Given the description of an element on the screen output the (x, y) to click on. 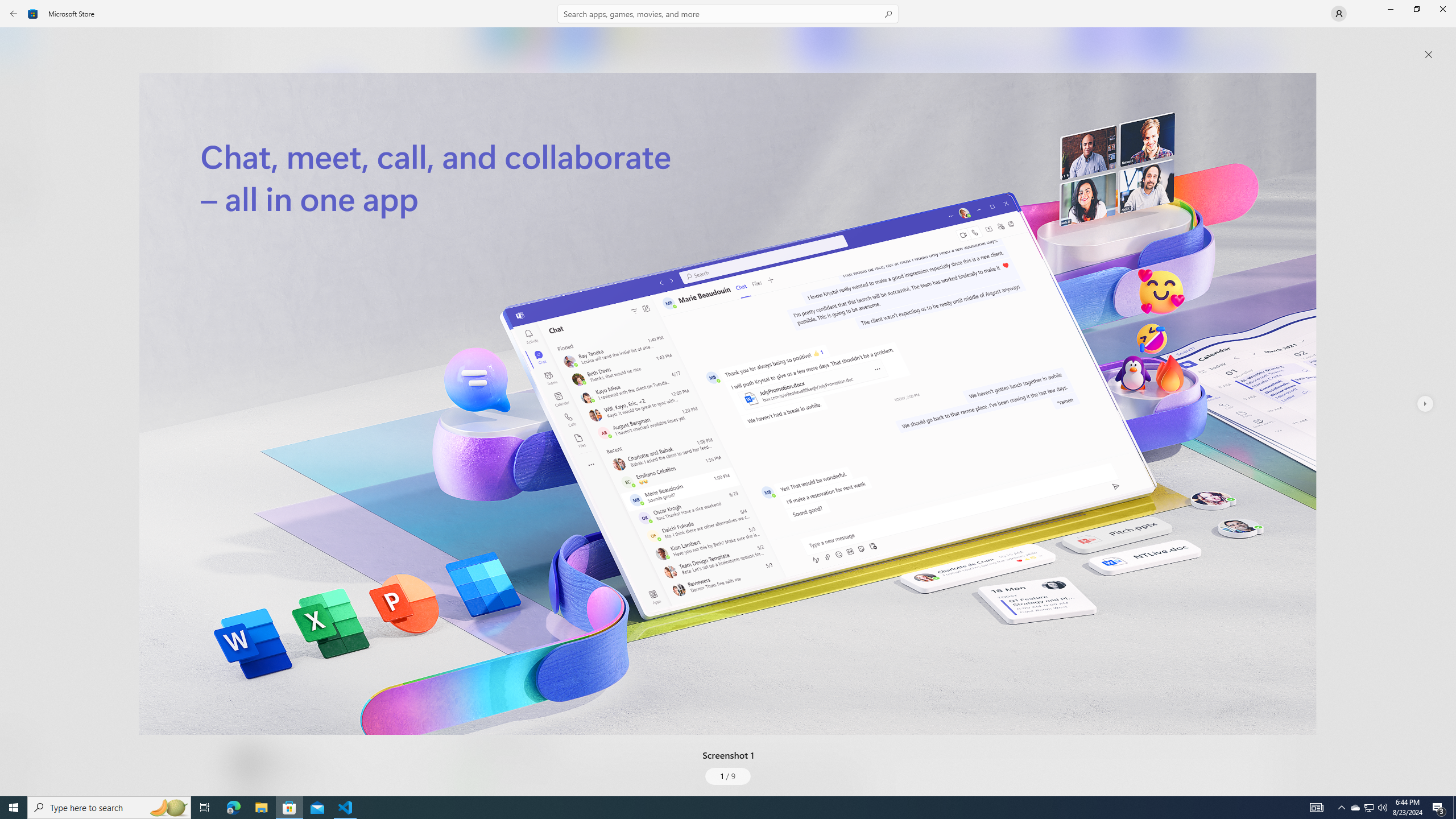
Entertainment (20, 185)
Microsoft Corporation (383, 189)
Search (727, 13)
Show less (482, 703)
Next (1424, 403)
Close Microsoft Store (1442, 9)
Screenshot 2 (959, 46)
Show all ratings and reviews (477, 527)
User profile (1338, 13)
close popup window (1428, 54)
Sign in to review (501, 379)
AI Hub (20, 221)
Screenshot 3 (1201, 46)
Minimize Microsoft Store (1390, 9)
Restore Microsoft Store (1416, 9)
